Given the description of an element on the screen output the (x, y) to click on. 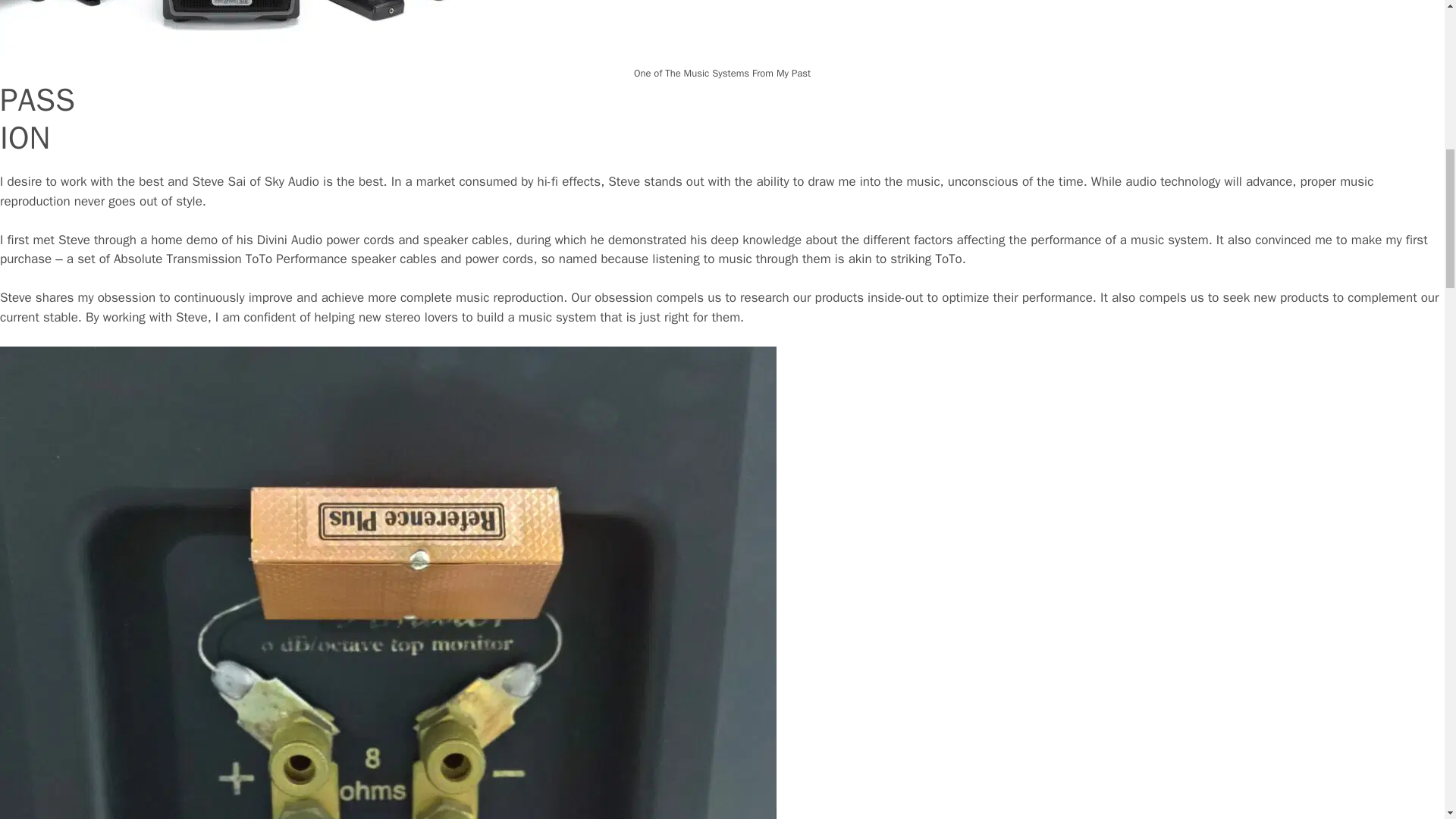
Scroll back to top (1406, 720)
